Given the description of an element on the screen output the (x, y) to click on. 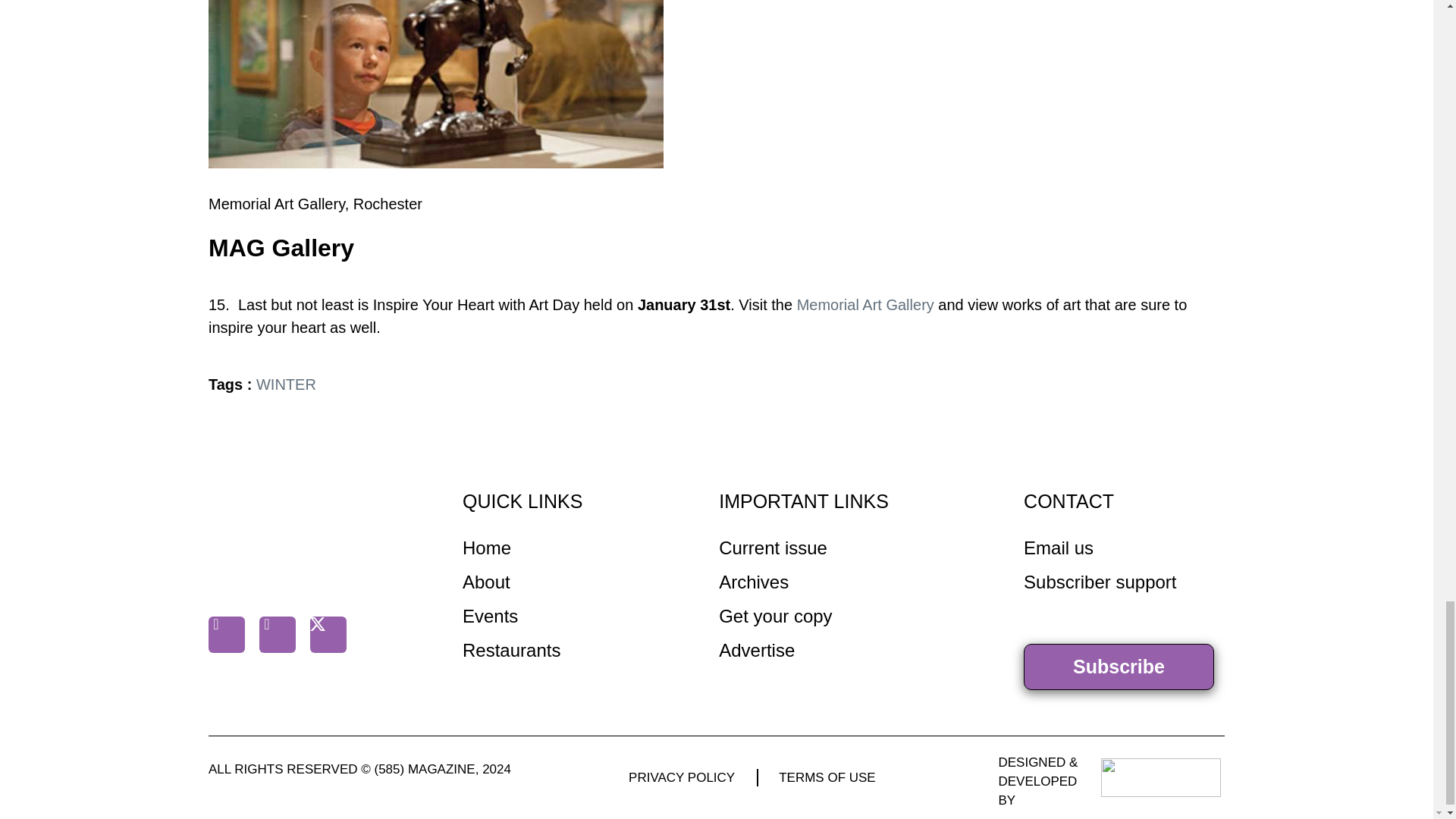
MAG Gallery (435, 84)
